Given the description of an element on the screen output the (x, y) to click on. 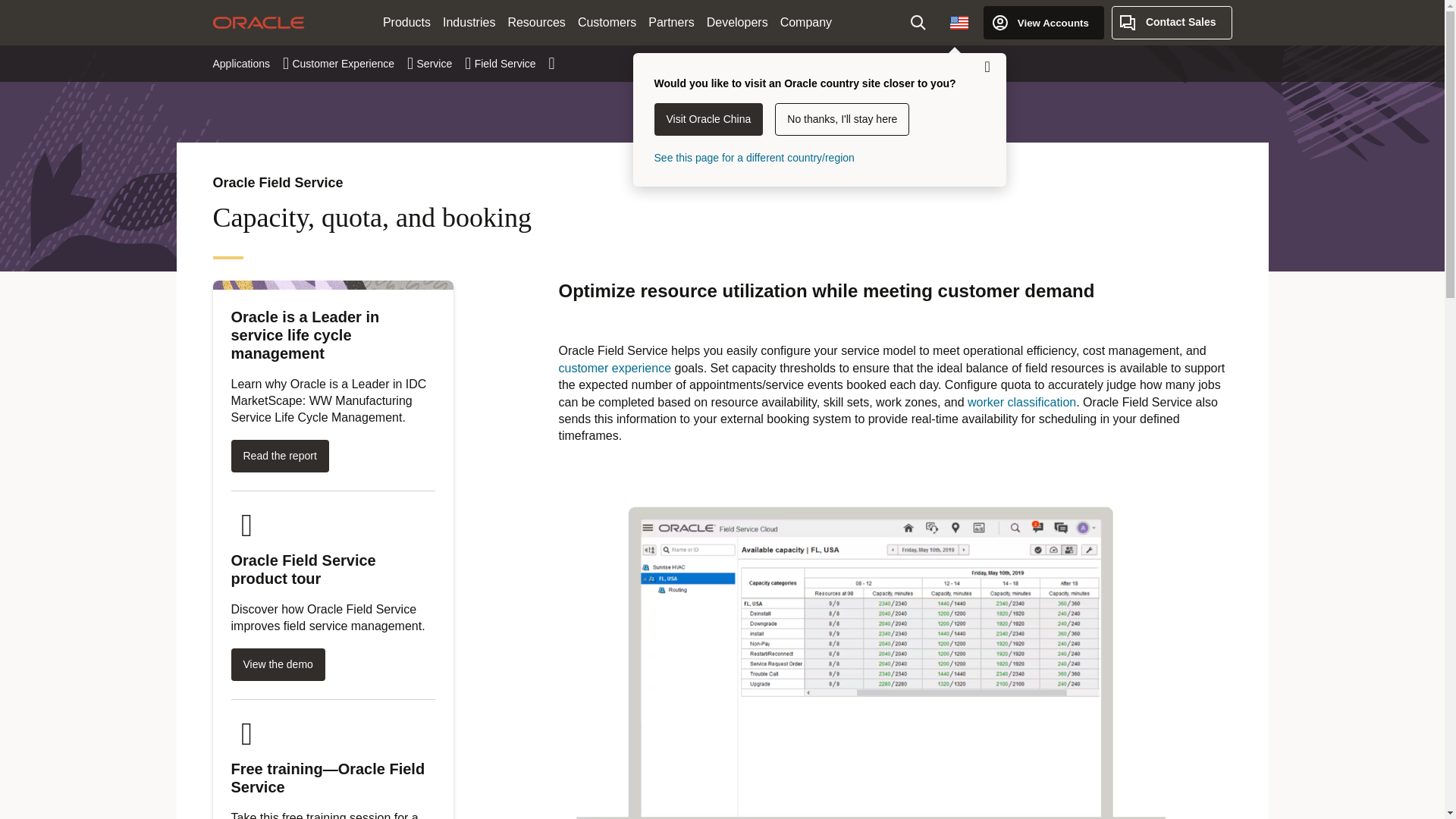
Products (406, 22)
Read the report (279, 455)
View the demo (277, 664)
Service (443, 63)
Visit Oracle China (707, 119)
Customers (607, 22)
Company (806, 22)
Resources (535, 22)
Contact Sales (1171, 22)
Developers (737, 22)
Contact Sales (1171, 22)
No thanks, I'll stay here (841, 119)
View Accounts (1043, 22)
Country (958, 22)
Applications (250, 63)
